Given the description of an element on the screen output the (x, y) to click on. 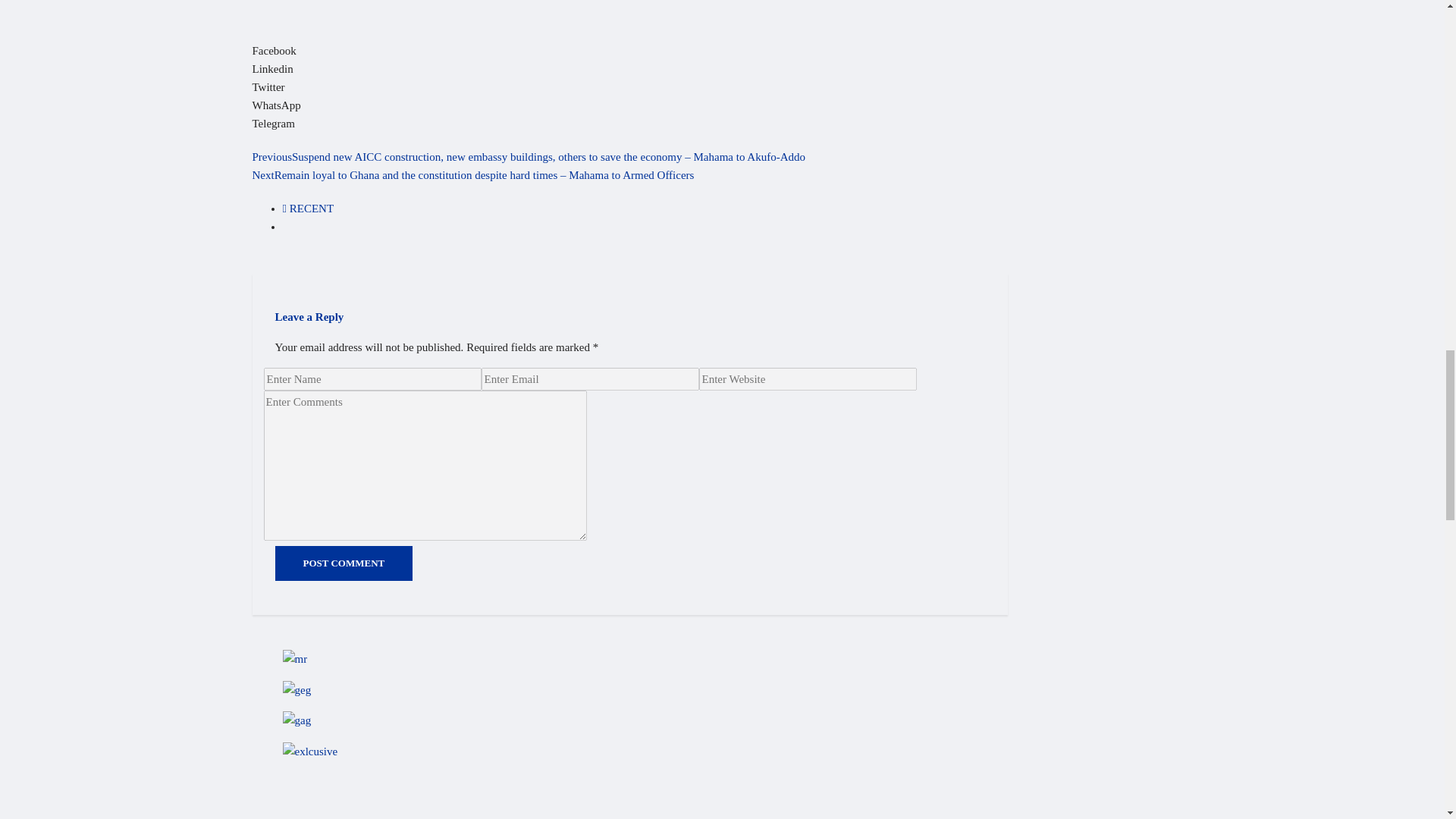
Post Comment (343, 563)
